Given the description of an element on the screen output the (x, y) to click on. 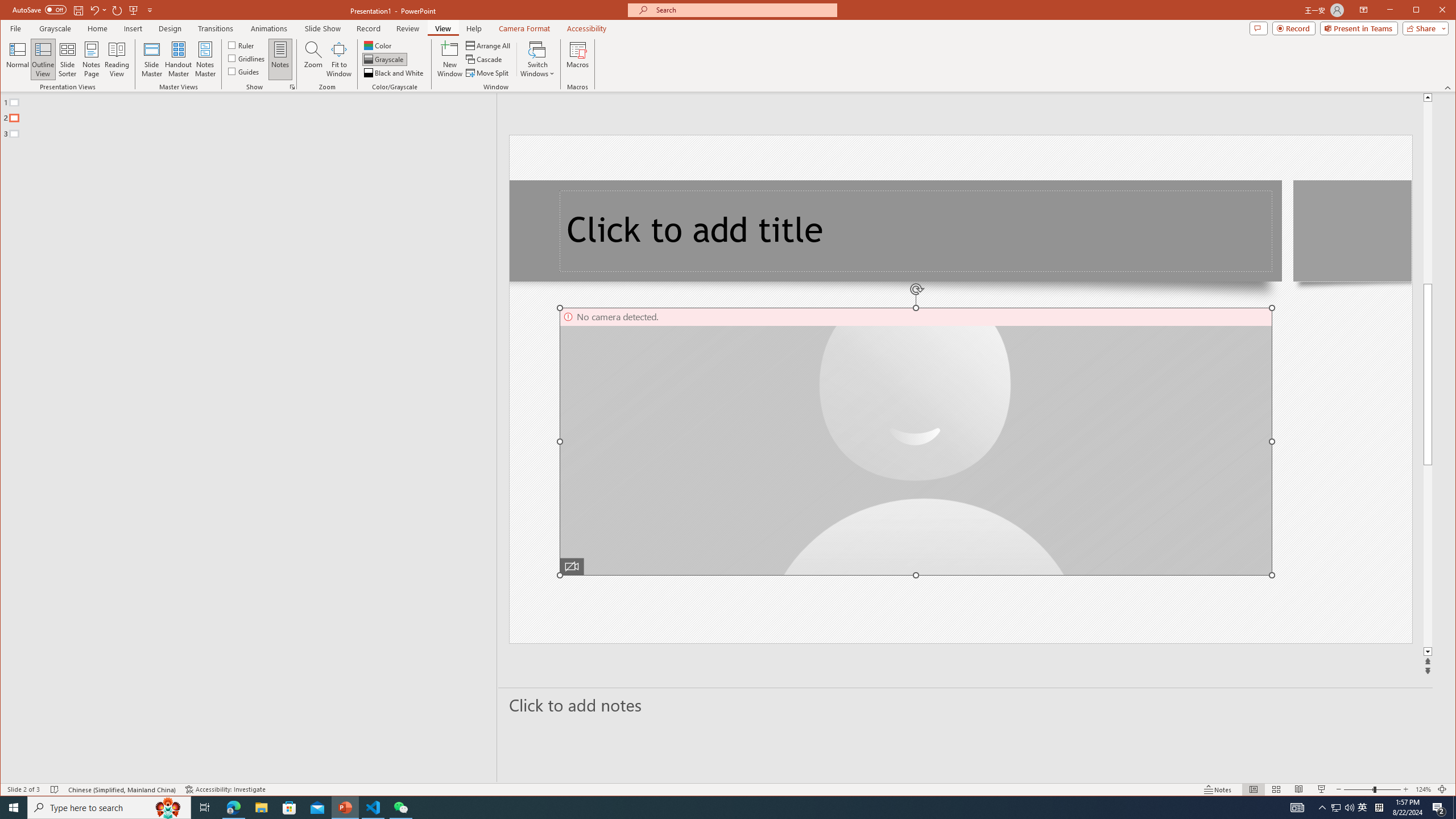
Task View (204, 807)
Visual Studio Code - 1 running window (373, 807)
Slide Notes (965, 704)
Page down (1427, 556)
Switch Windows (537, 59)
